Given the description of an element on the screen output the (x, y) to click on. 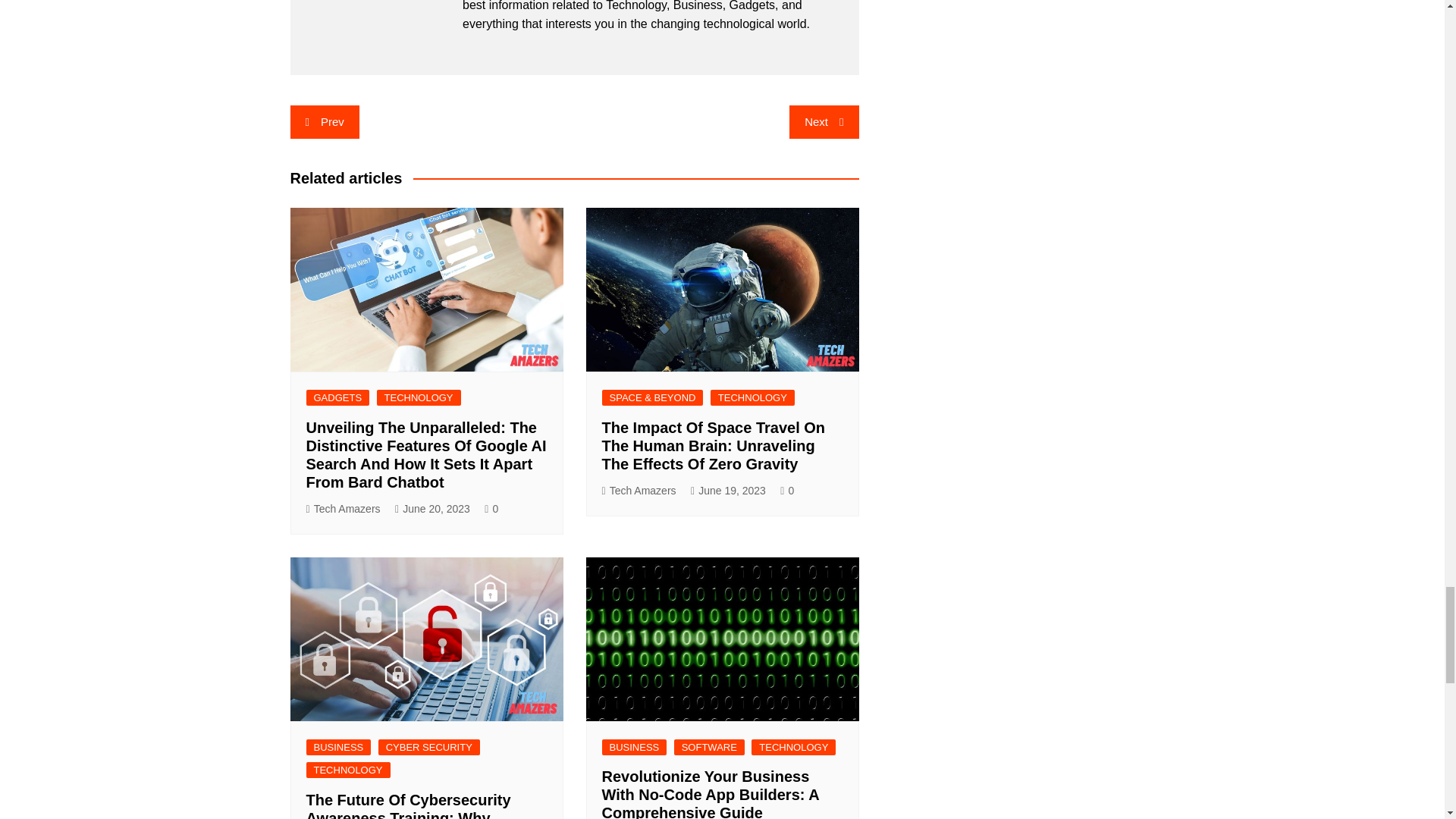
Prev (323, 121)
